Given the description of an element on the screen output the (x, y) to click on. 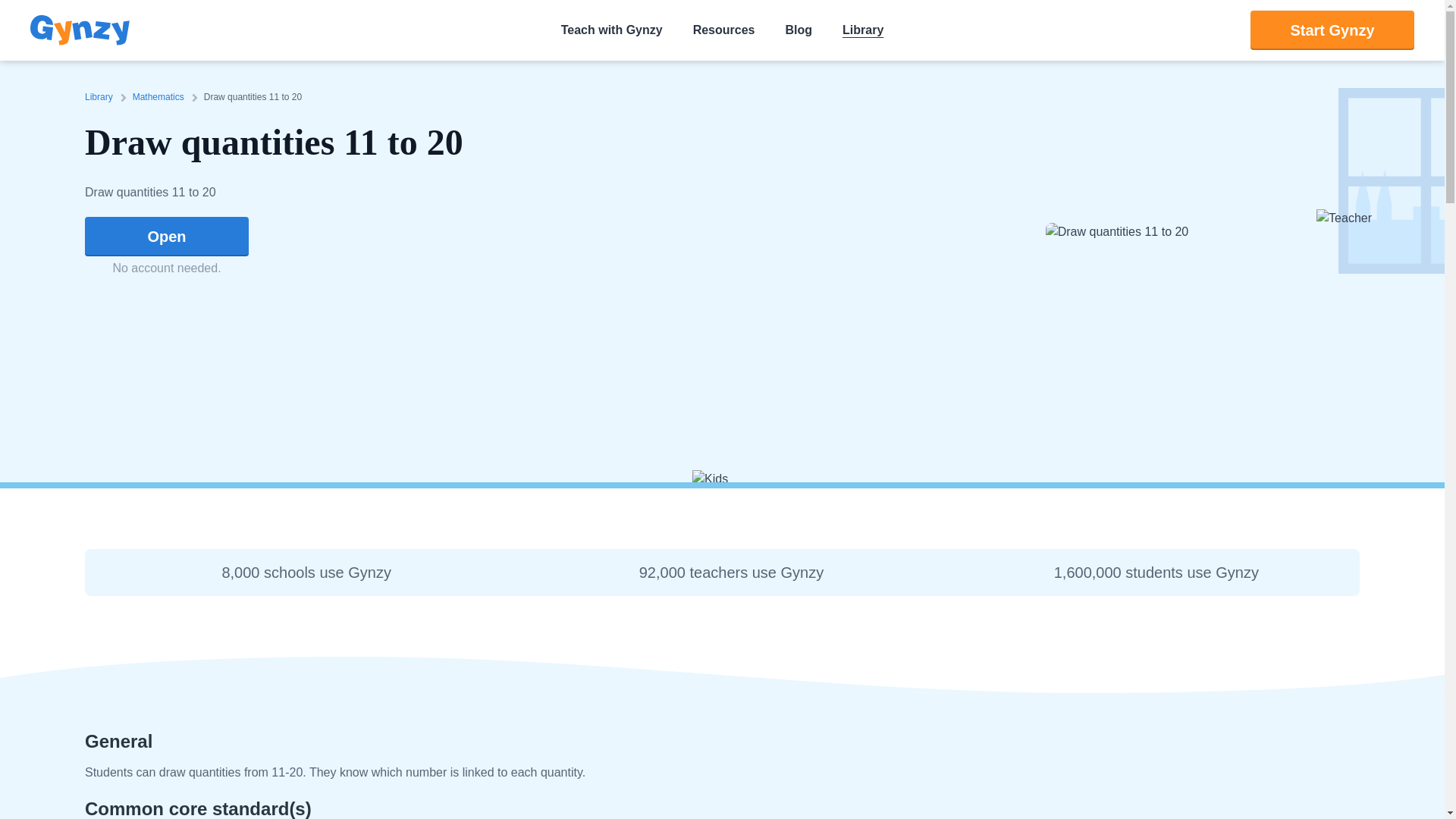
Library (863, 30)
Mathematics (161, 96)
Resources (724, 30)
Resources (724, 30)
Teach with Gynzy (612, 30)
Start Gynzy (1331, 29)
Open (166, 236)
Blog (798, 30)
Click here to go Home (79, 30)
Library (101, 96)
